Given the description of an element on the screen output the (x, y) to click on. 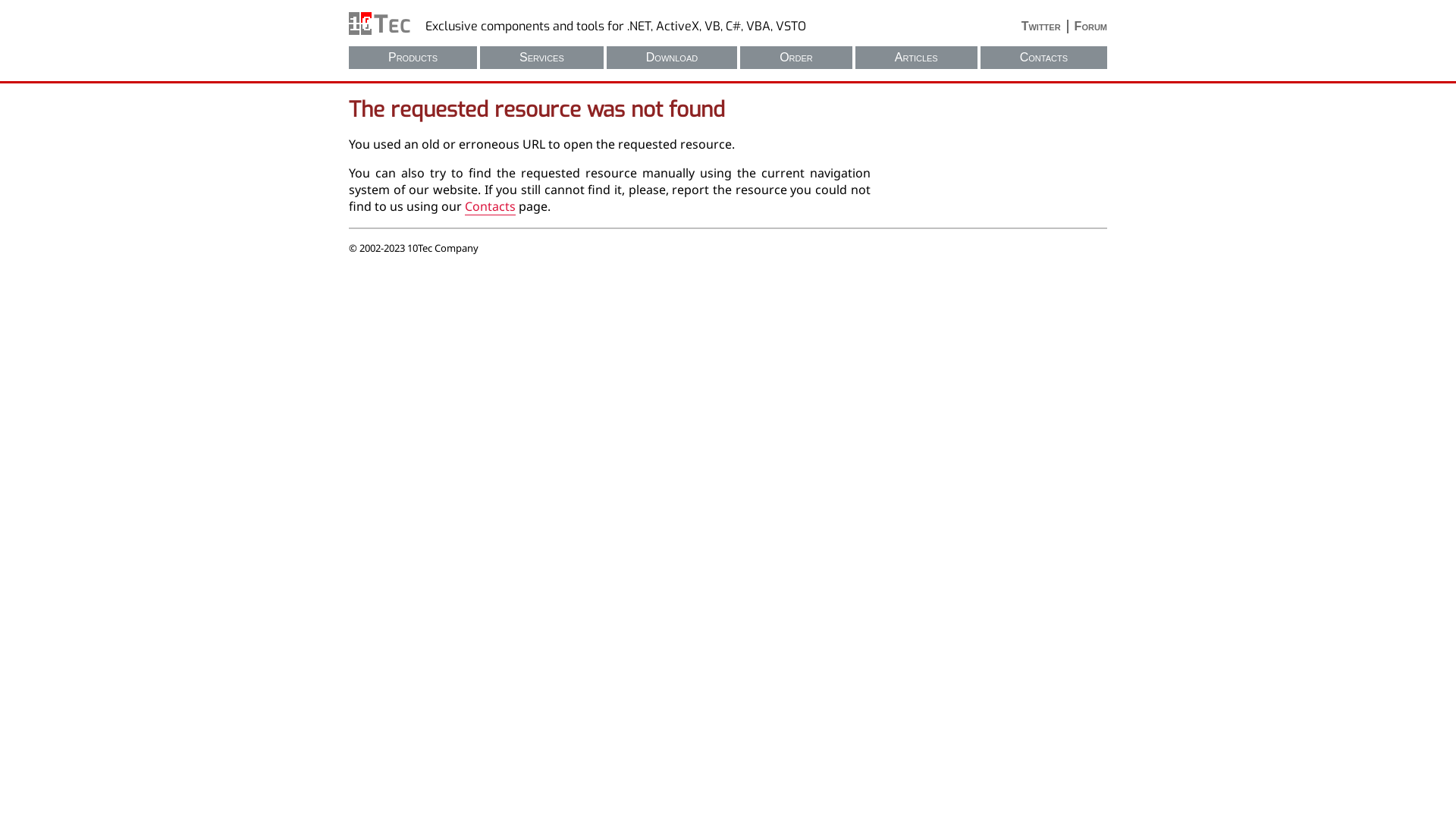
Download Element type: text (671, 57)
10Tec Company Element type: hover (379, 23)
Twitter Element type: text (1044, 26)
Services Element type: text (541, 57)
Contacts Element type: text (1043, 57)
Forum Element type: text (1087, 26)
Contacts Element type: text (489, 206)
Articles Element type: text (916, 57)
Order Element type: text (796, 57)
Products Element type: text (412, 57)
